Given the description of an element on the screen output the (x, y) to click on. 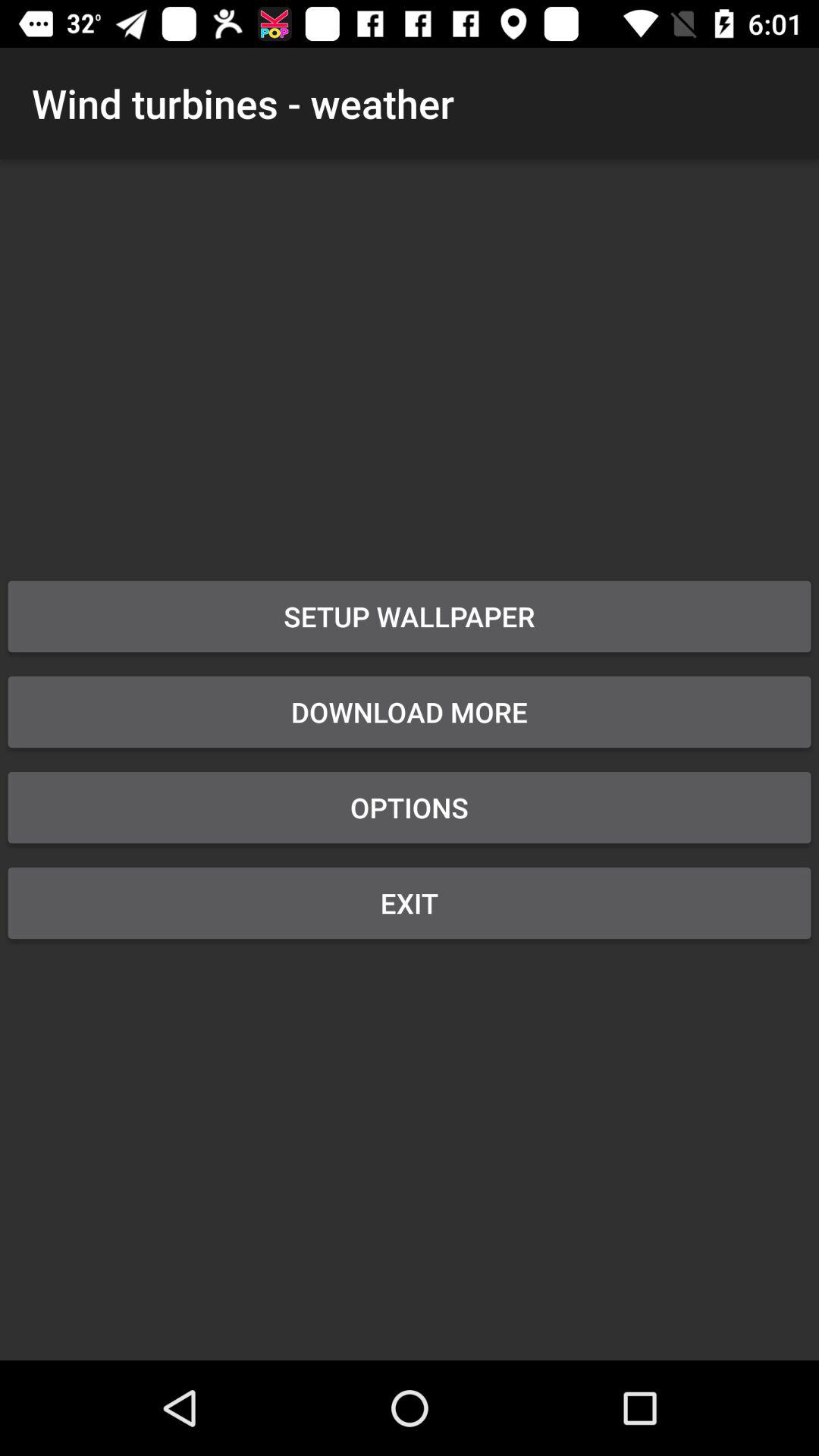
scroll to options button (409, 807)
